Given the description of an element on the screen output the (x, y) to click on. 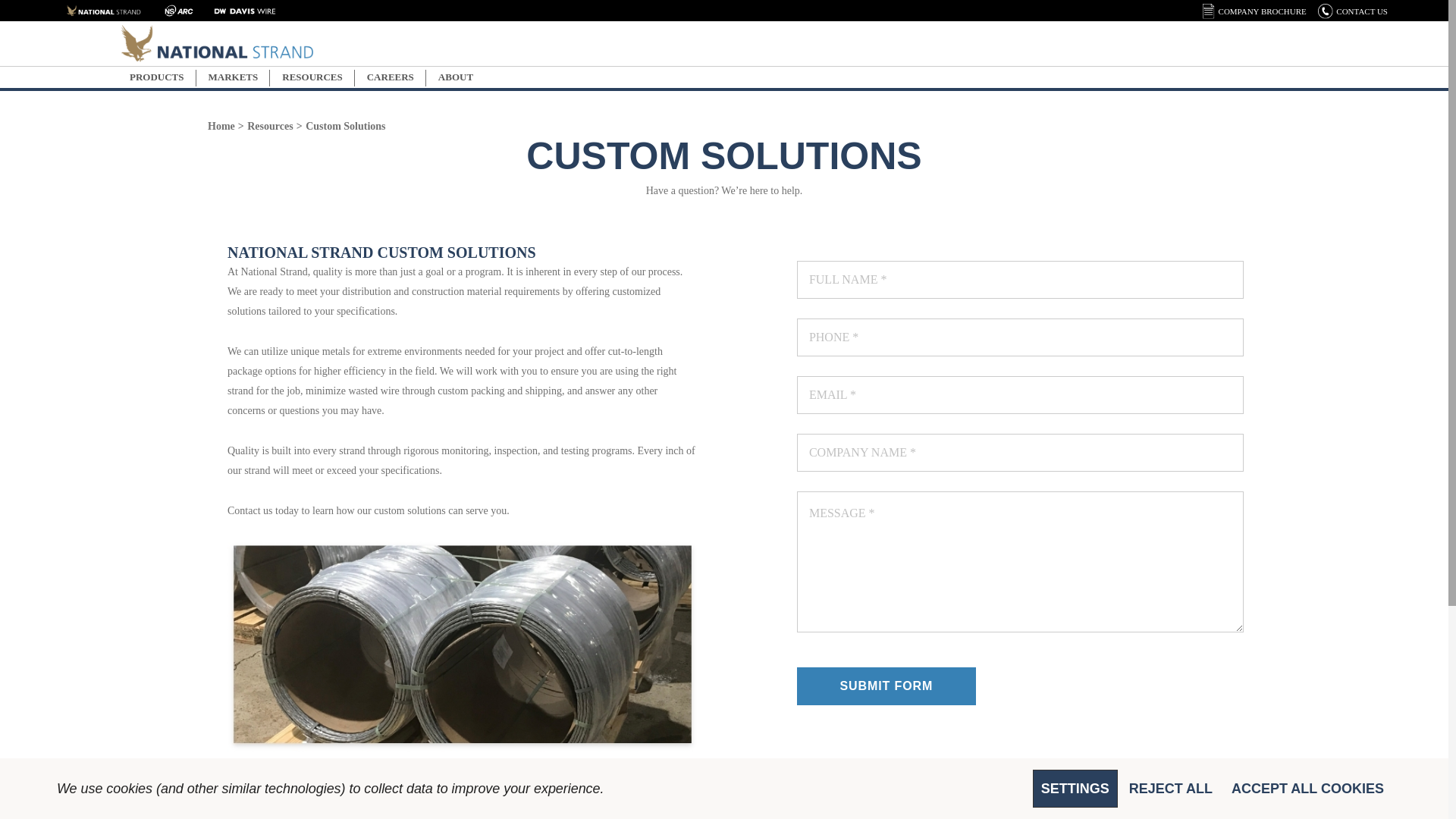
CAREERS (390, 76)
PRODUCTS (156, 77)
ABOUT (455, 76)
MARKETS (233, 77)
Submit Form (885, 686)
RESOURCES (312, 77)
National Strand (216, 43)
COMPANY BROCHURE (1262, 10)
CONTACT US (1361, 10)
